Given the description of an element on the screen output the (x, y) to click on. 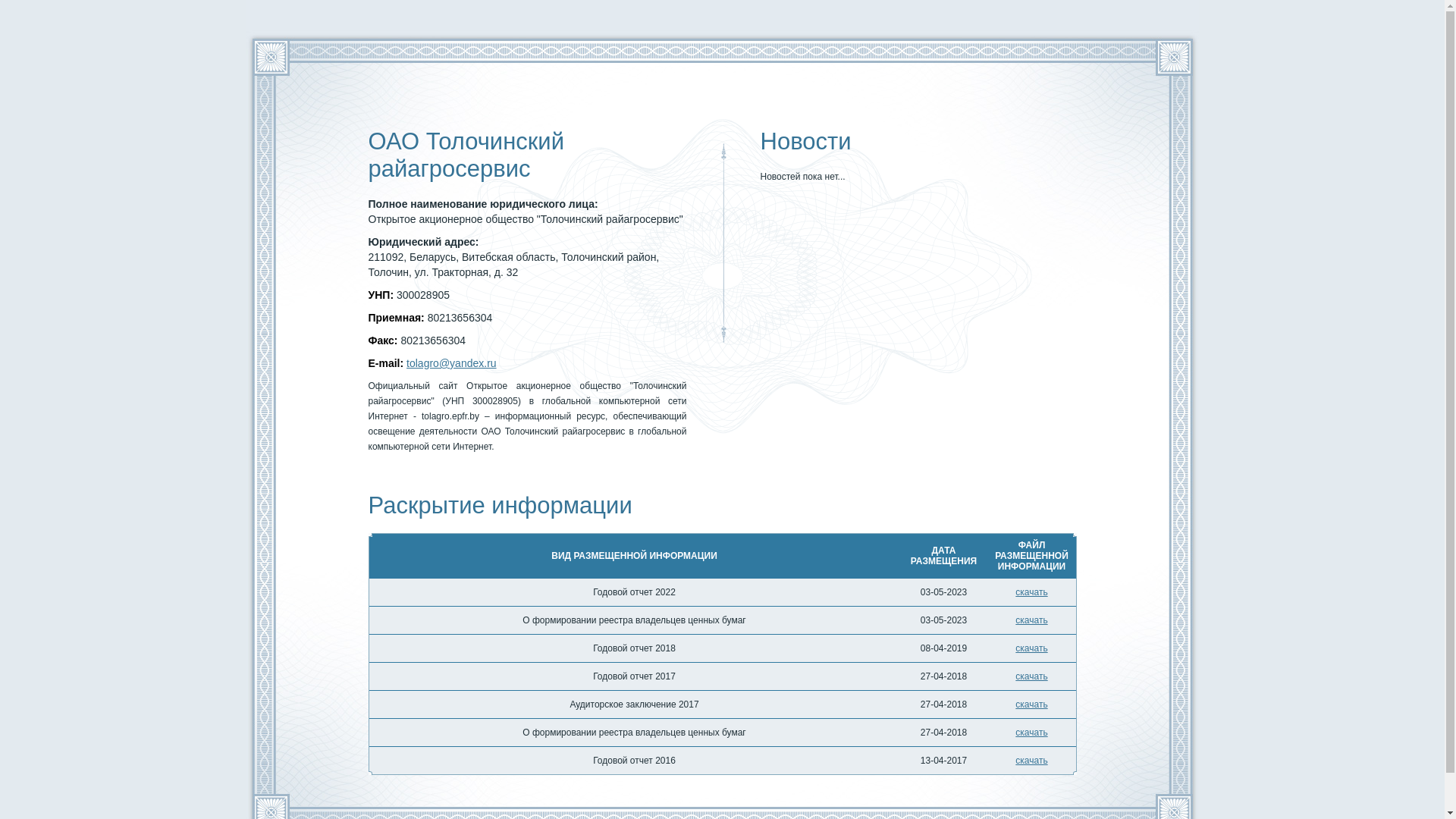
tolagro@yandex.ru Element type: text (451, 363)
